Given the description of an element on the screen output the (x, y) to click on. 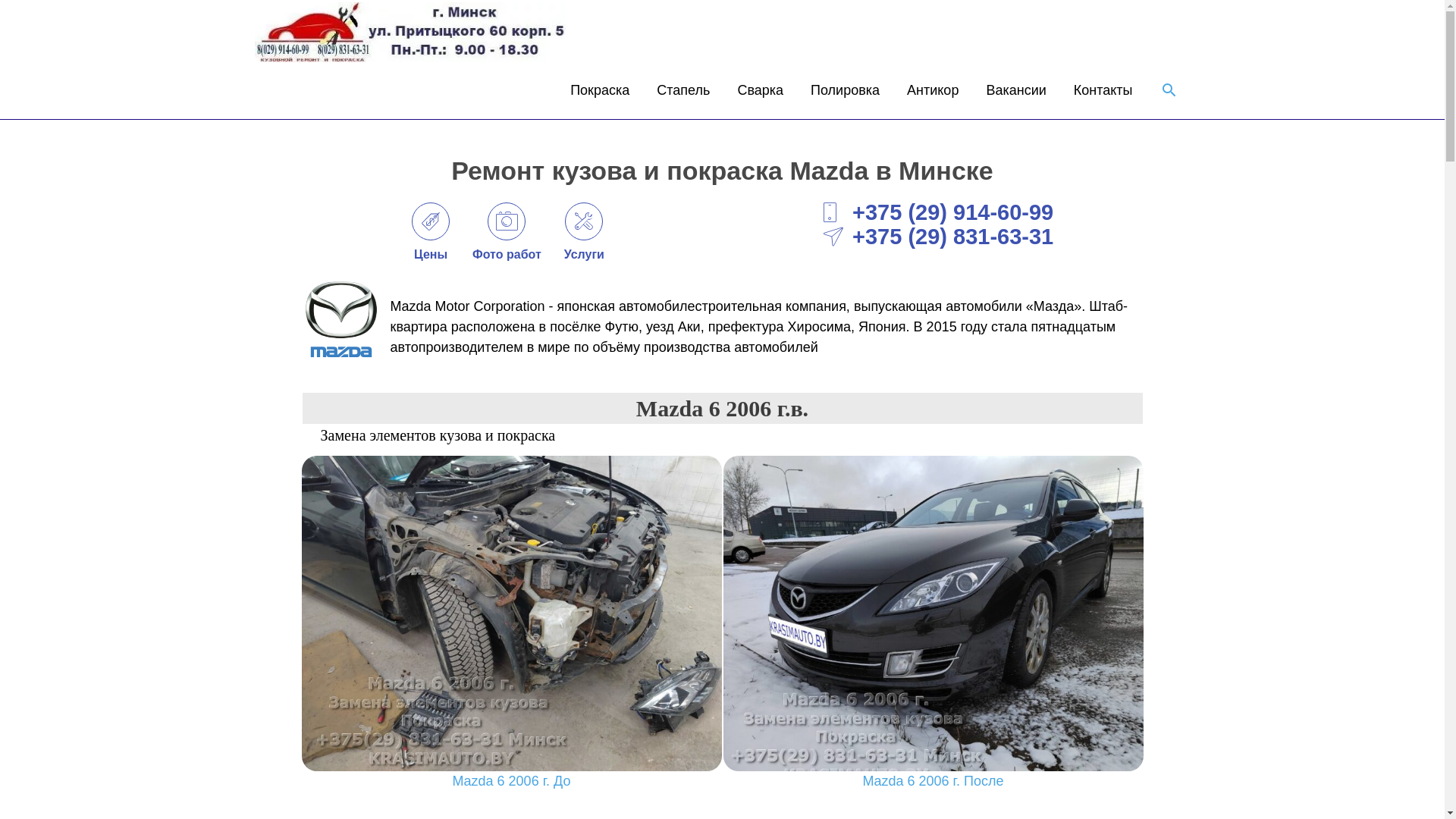
+375 (29) 831-63-31 Element type: text (938, 236)
+375 (29) 914-60-99 Element type: text (938, 212)
